Given the description of an element on the screen output the (x, y) to click on. 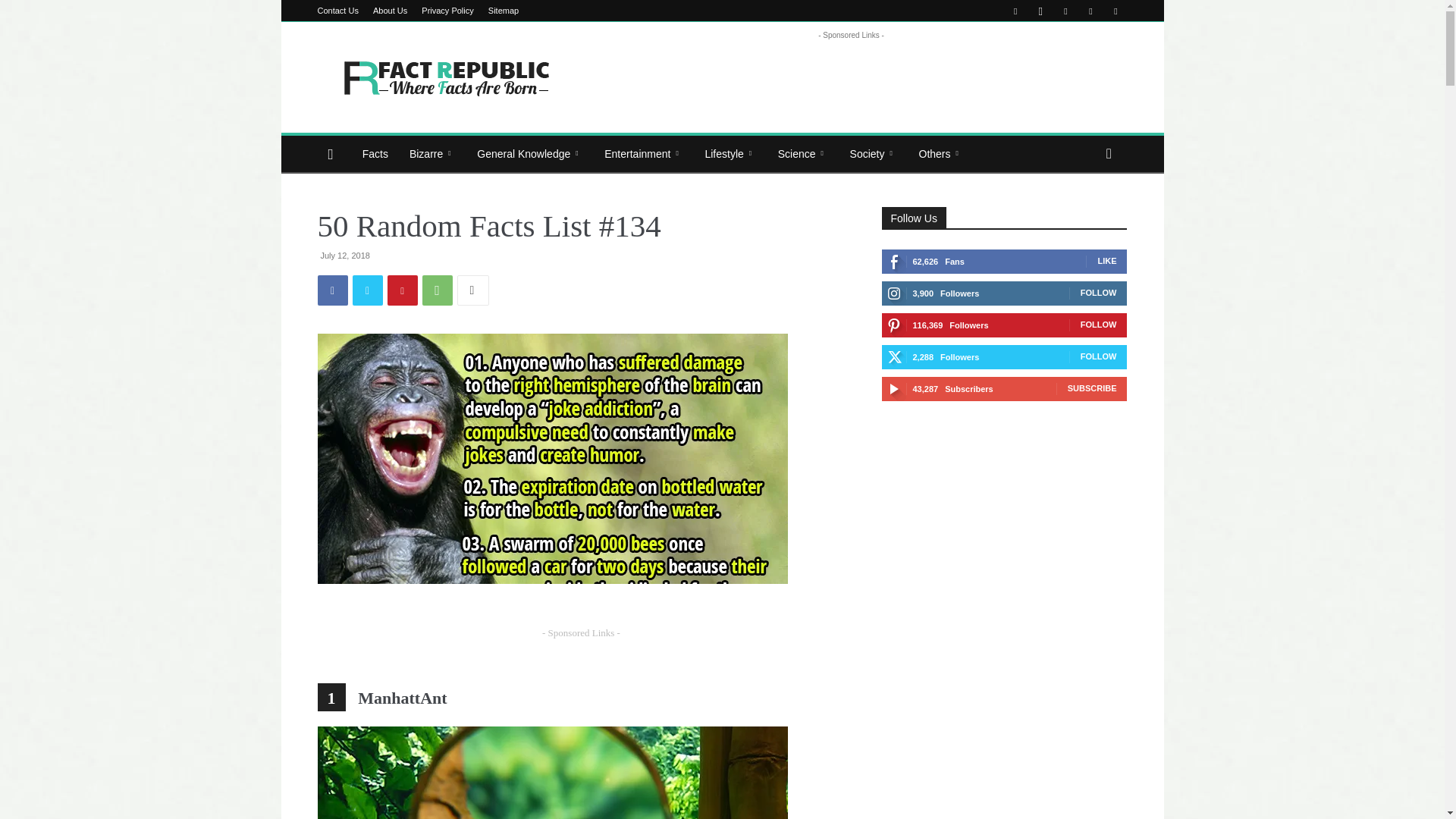
Facebook (1015, 10)
Youtube (1114, 10)
Where Facts Are Born (445, 77)
Twitter (366, 290)
Facebook (332, 290)
Pinterest (401, 290)
Twitter (1090, 10)
Instagram (1040, 10)
Pinterest (1065, 10)
